Given the description of an element on the screen output the (x, y) to click on. 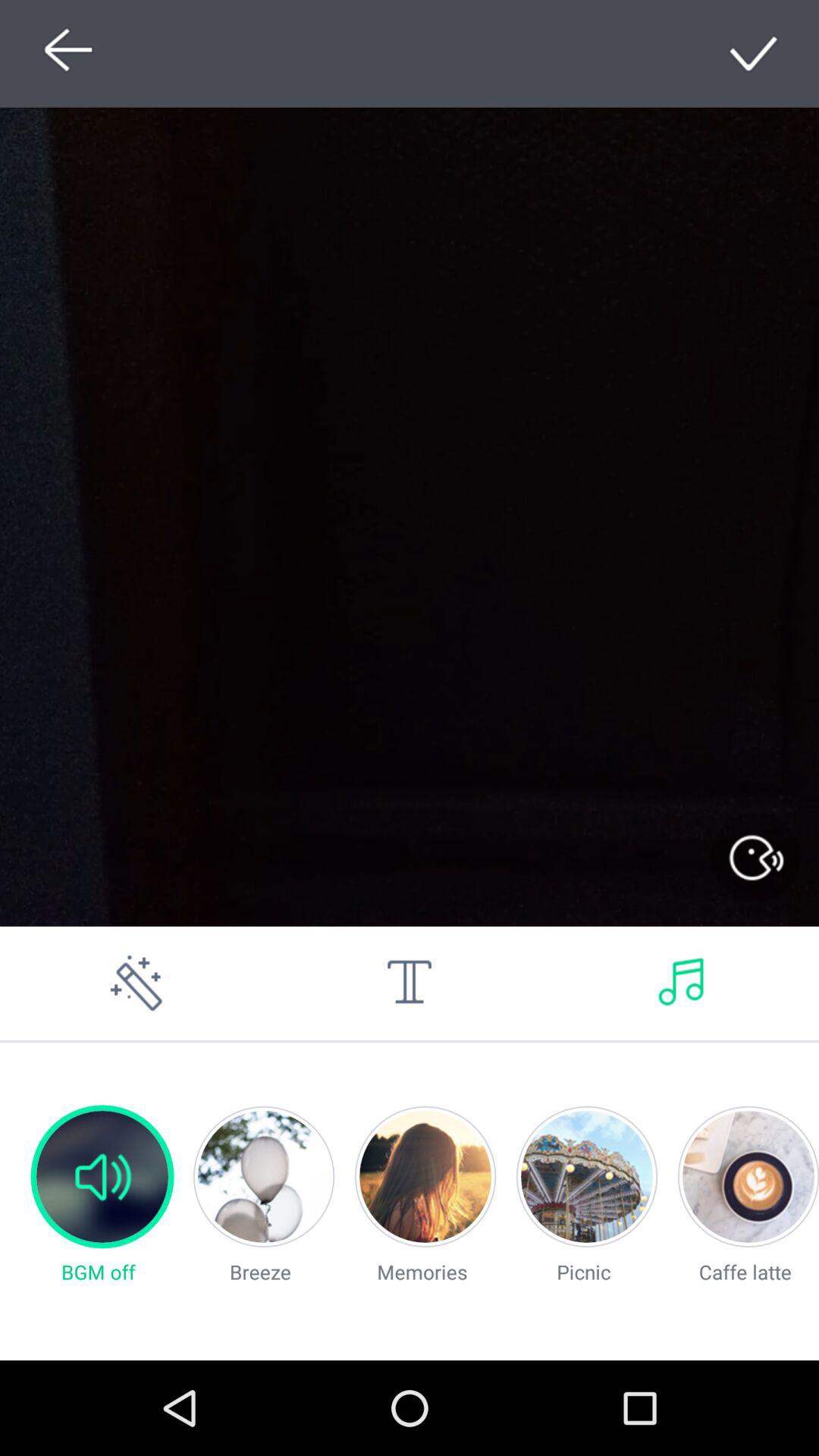
click tick symbol (754, 53)
